Given the description of an element on the screen output the (x, y) to click on. 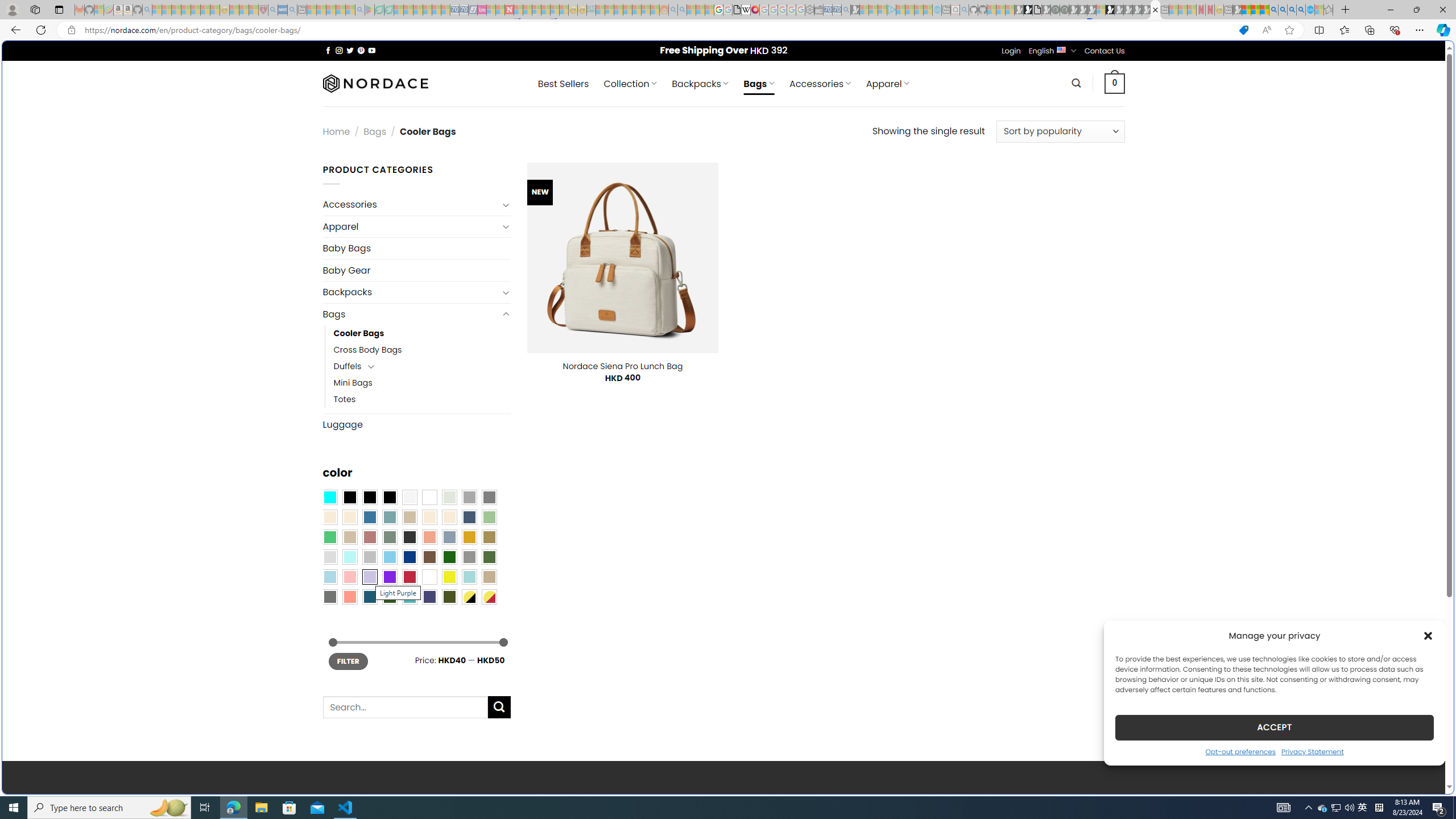
Sky Blue (389, 557)
Red (408, 577)
Home | Sky Blue Bikes - Sky Blue Bikes - Sleeping (936, 9)
Pets - MSN - Sleeping (340, 9)
Dusty Blue (449, 536)
Login (1010, 50)
utah sues federal government - Search (922, 389)
Army Green (449, 596)
